Given the description of an element on the screen output the (x, y) to click on. 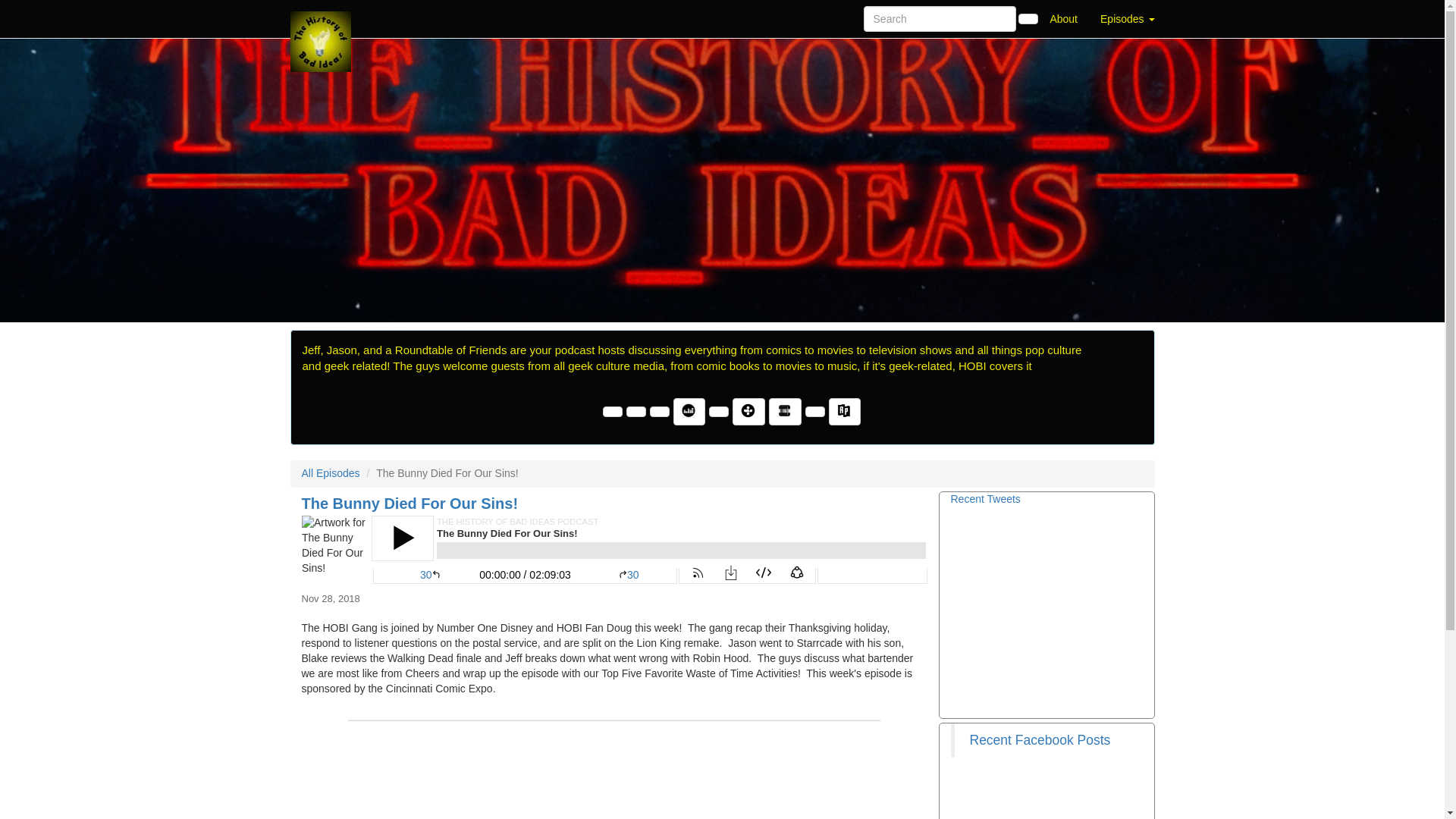
Episodes (1127, 18)
The Bunny Died For Our Sins! (614, 549)
Home Page (320, 18)
About (1063, 18)
